Given the description of an element on the screen output the (x, y) to click on. 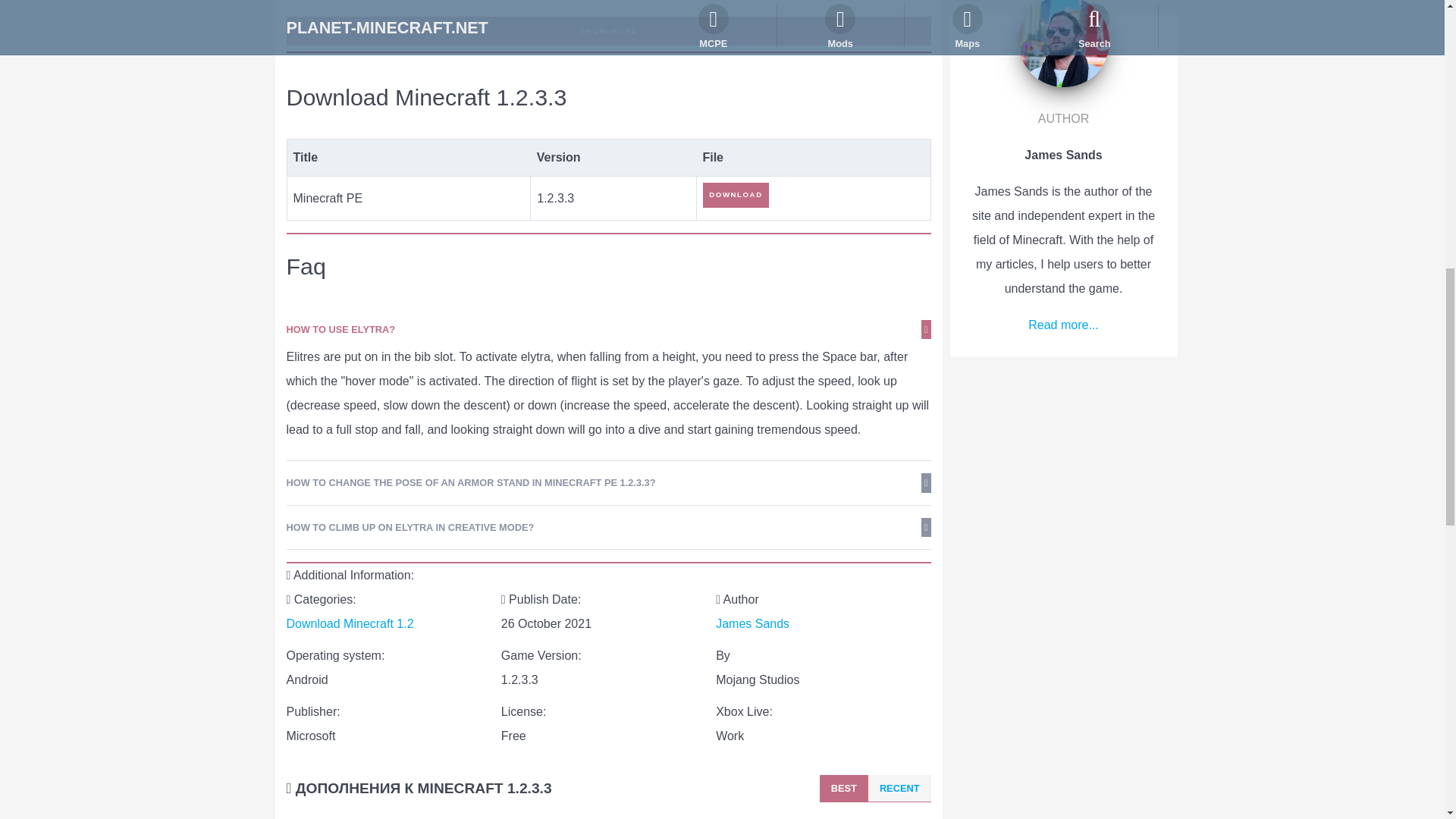
James Sands (752, 623)
BEST (844, 788)
RECENT (899, 788)
Download Minecraft 1.2 (349, 623)
DOWNLOAD (735, 194)
James (752, 623)
SHOW MORE (608, 30)
Download Minecraft 1.2 (349, 623)
Show more (608, 30)
